Given the description of an element on the screen output the (x, y) to click on. 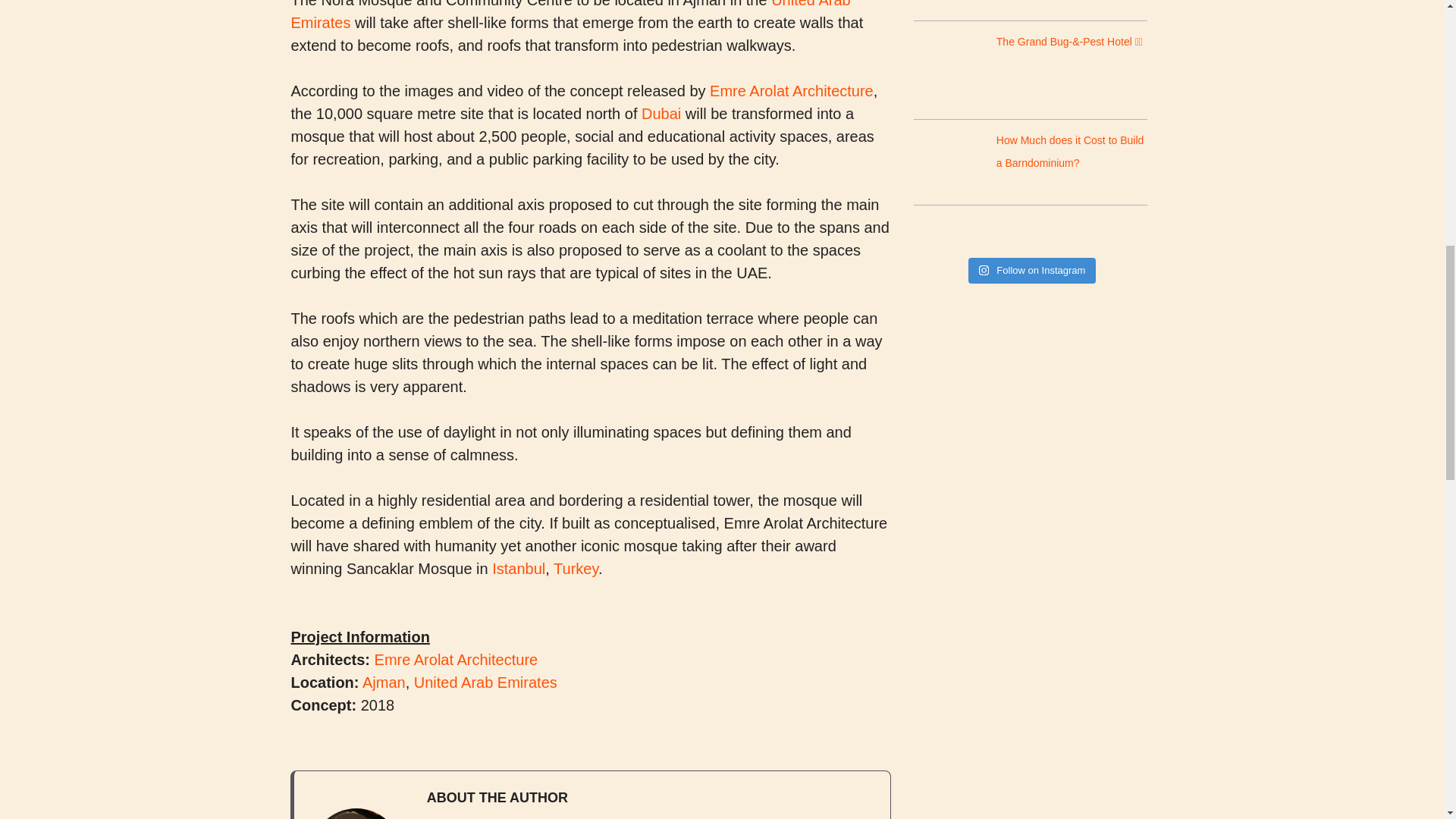
Turkey (575, 568)
Dubai (661, 113)
Emre Arolat Architecture (791, 90)
Emre Arolat Architecture (456, 659)
United Arab Emirates (485, 682)
United Arab Emirates (570, 15)
Istanbul (518, 568)
Ajman (384, 682)
